Given the description of an element on the screen output the (x, y) to click on. 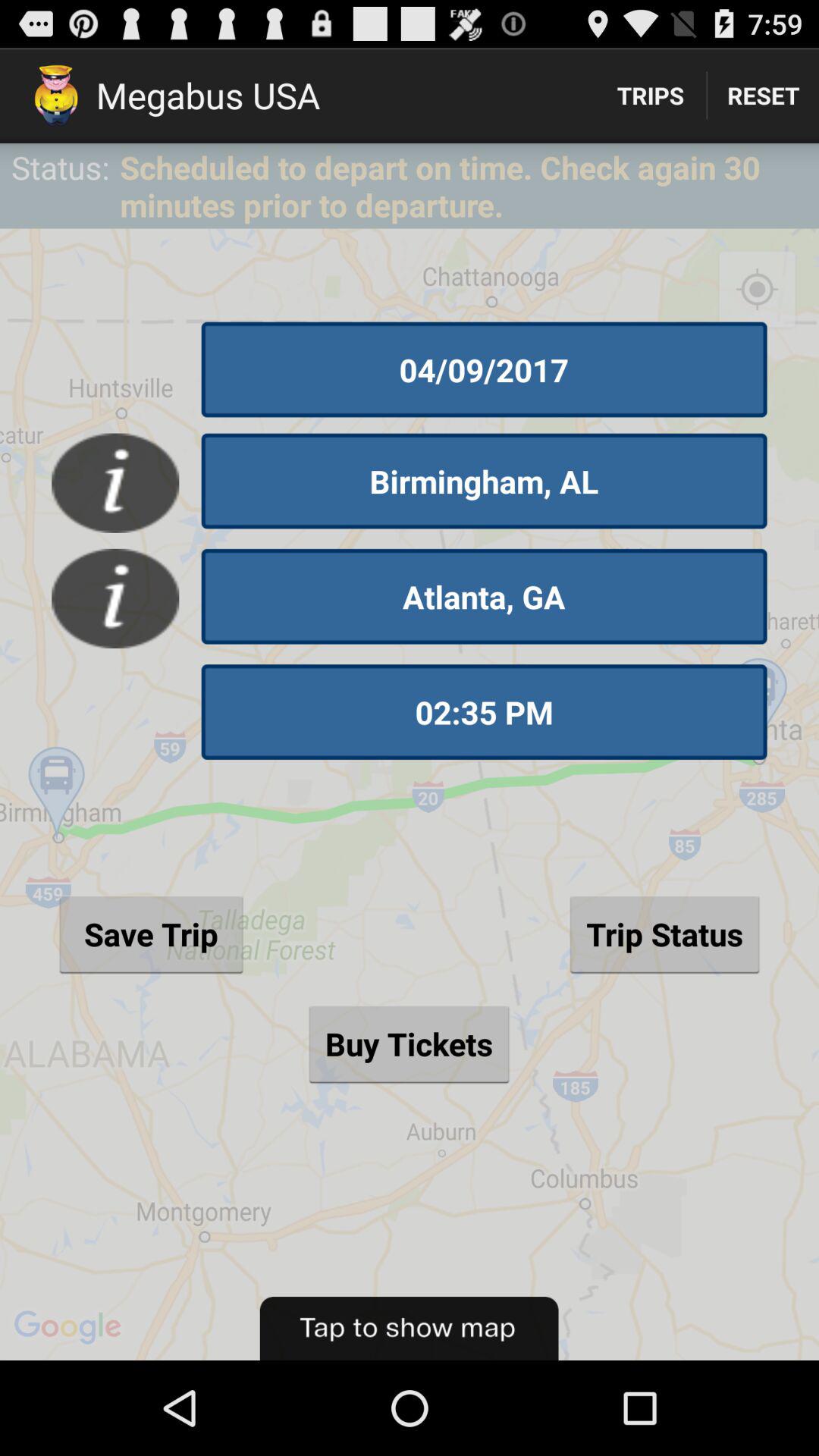
press icon next to megabus usa icon (650, 95)
